Given the description of an element on the screen output the (x, y) to click on. 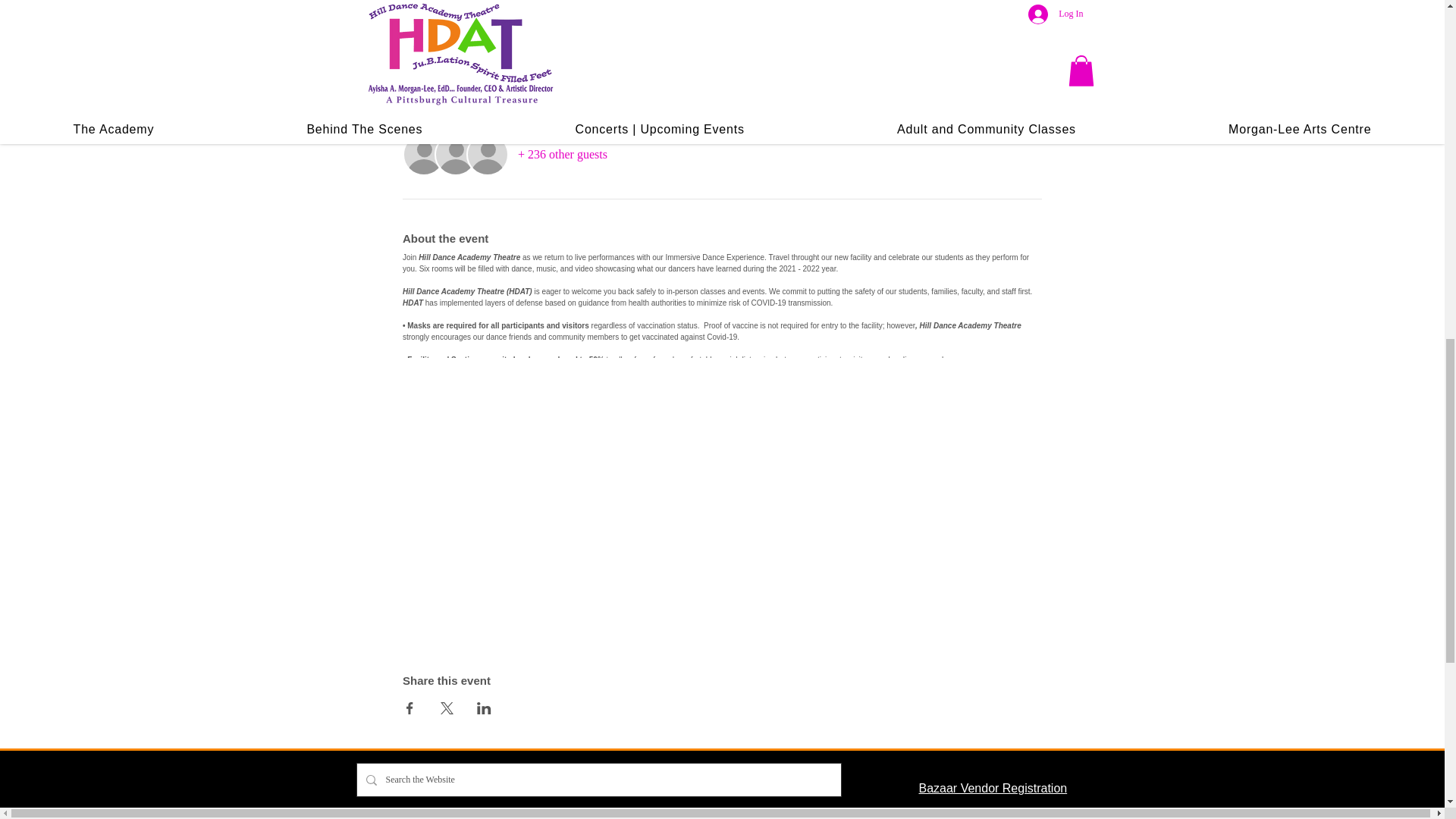
Adult Classes (955, 814)
Bazaar Vendor Registration (992, 788)
